Given the description of an element on the screen output the (x, y) to click on. 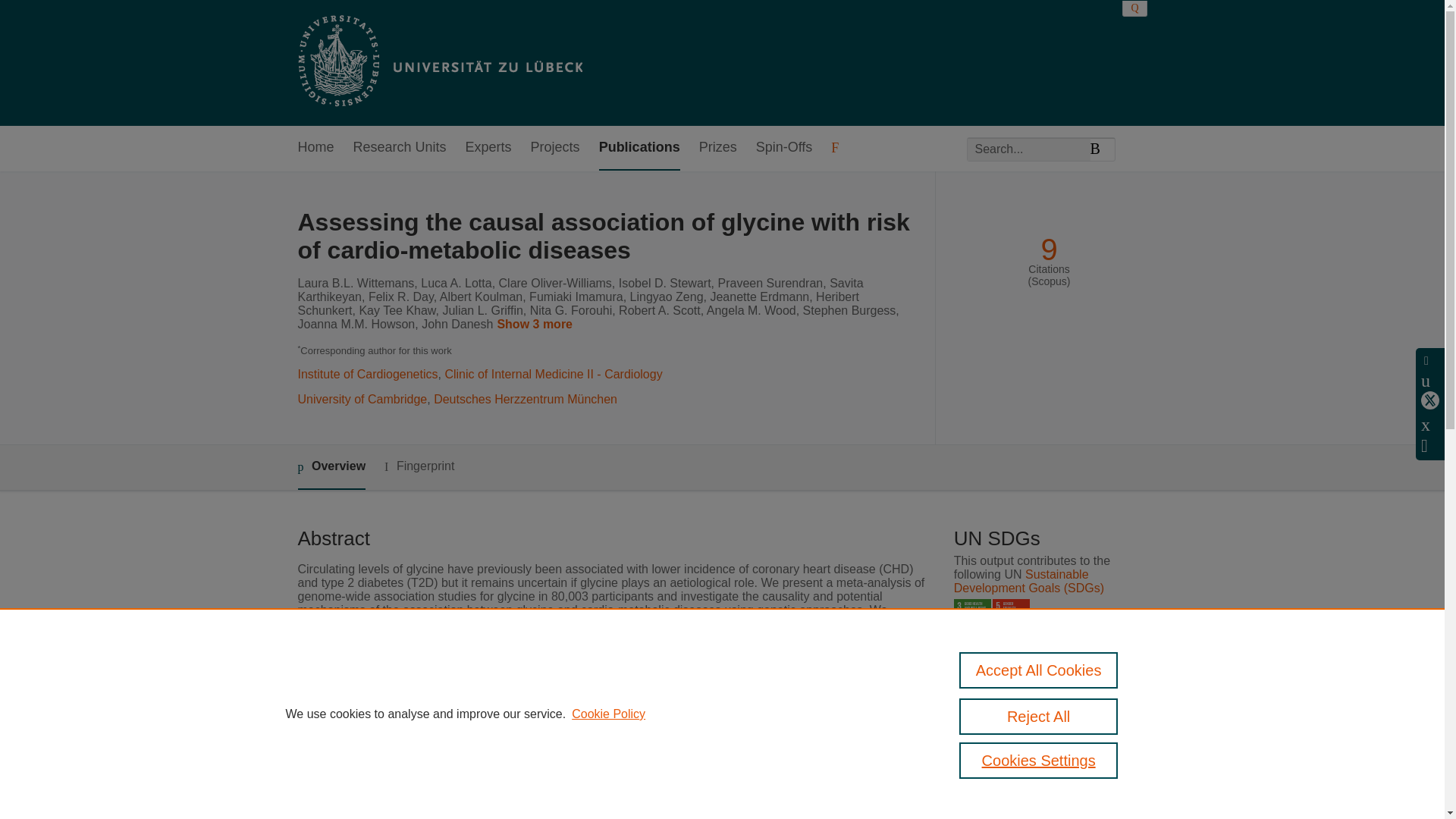
Publications (638, 148)
Show 3 more (536, 324)
Clinic of Internal Medicine II - Cardiology (553, 373)
Nature Communications (574, 751)
SDG 3 - Good Health and Well-being (972, 617)
Link to publication in Scopus (1045, 741)
Research Units (399, 148)
University of Luebeck Home (438, 62)
Experts (488, 148)
SDG 5 - Gender Equality (1010, 617)
